Given the description of an element on the screen output the (x, y) to click on. 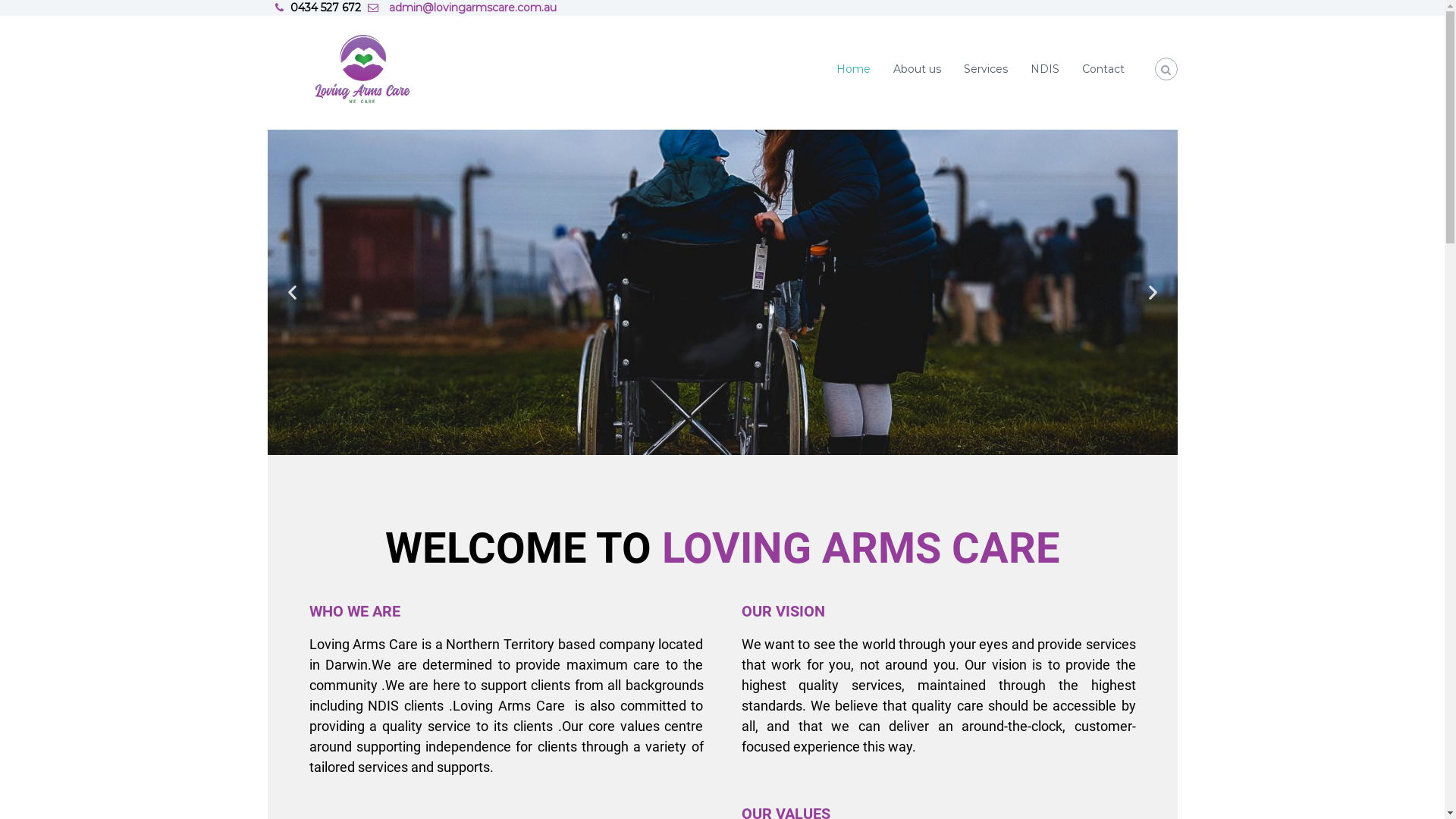
0434 527 672 Element type: text (324, 7)
About us Element type: text (917, 68)
NDIS Element type: text (1043, 68)
Services Element type: text (985, 68)
Contact Element type: text (1102, 68)
Home Element type: text (852, 68)
